Given the description of an element on the screen output the (x, y) to click on. 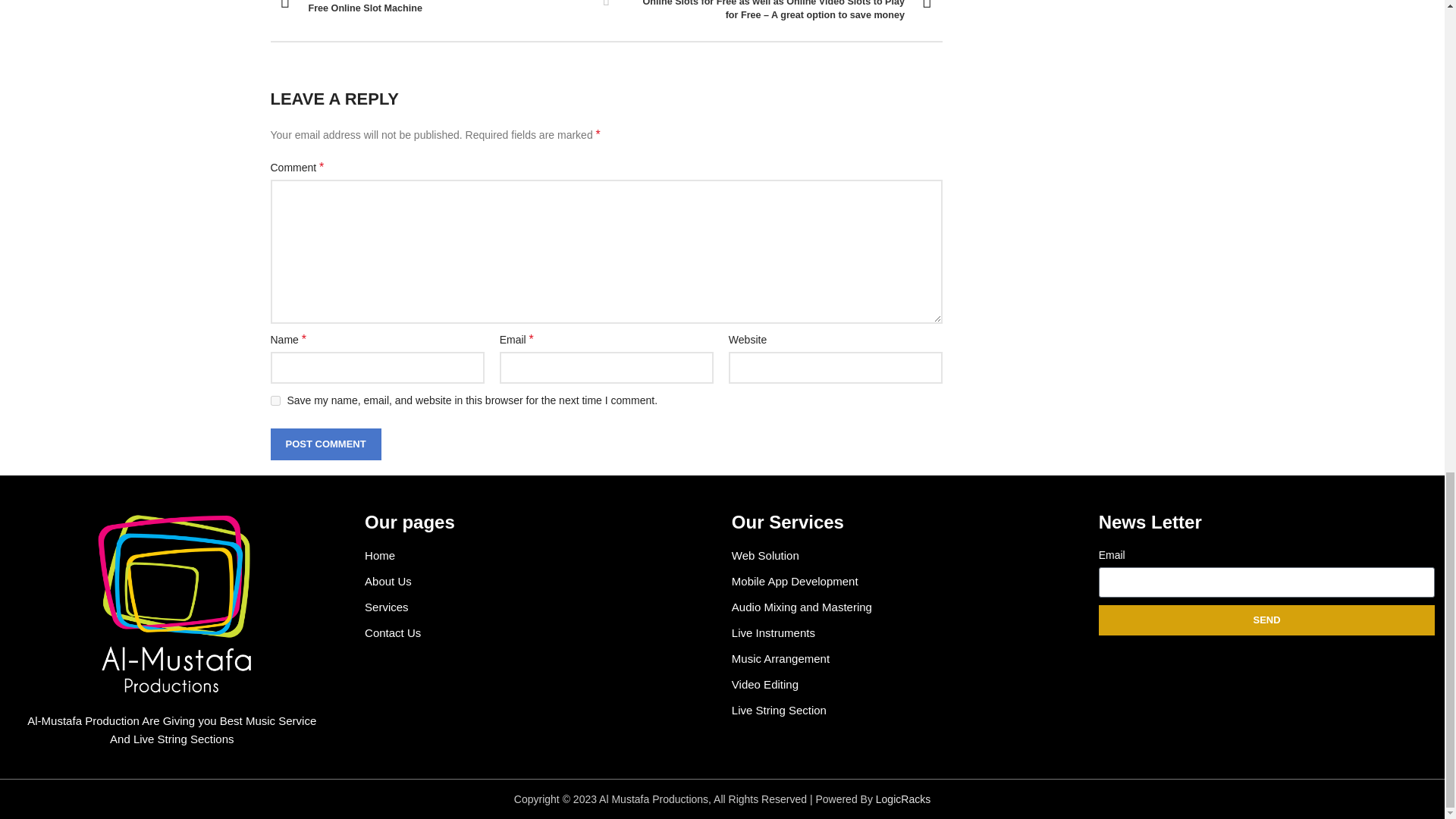
Post Comment (324, 444)
Al-Logo-copy (172, 601)
Back to list (432, 7)
yes (606, 5)
Post Comment (274, 400)
